Given the description of an element on the screen output the (x, y) to click on. 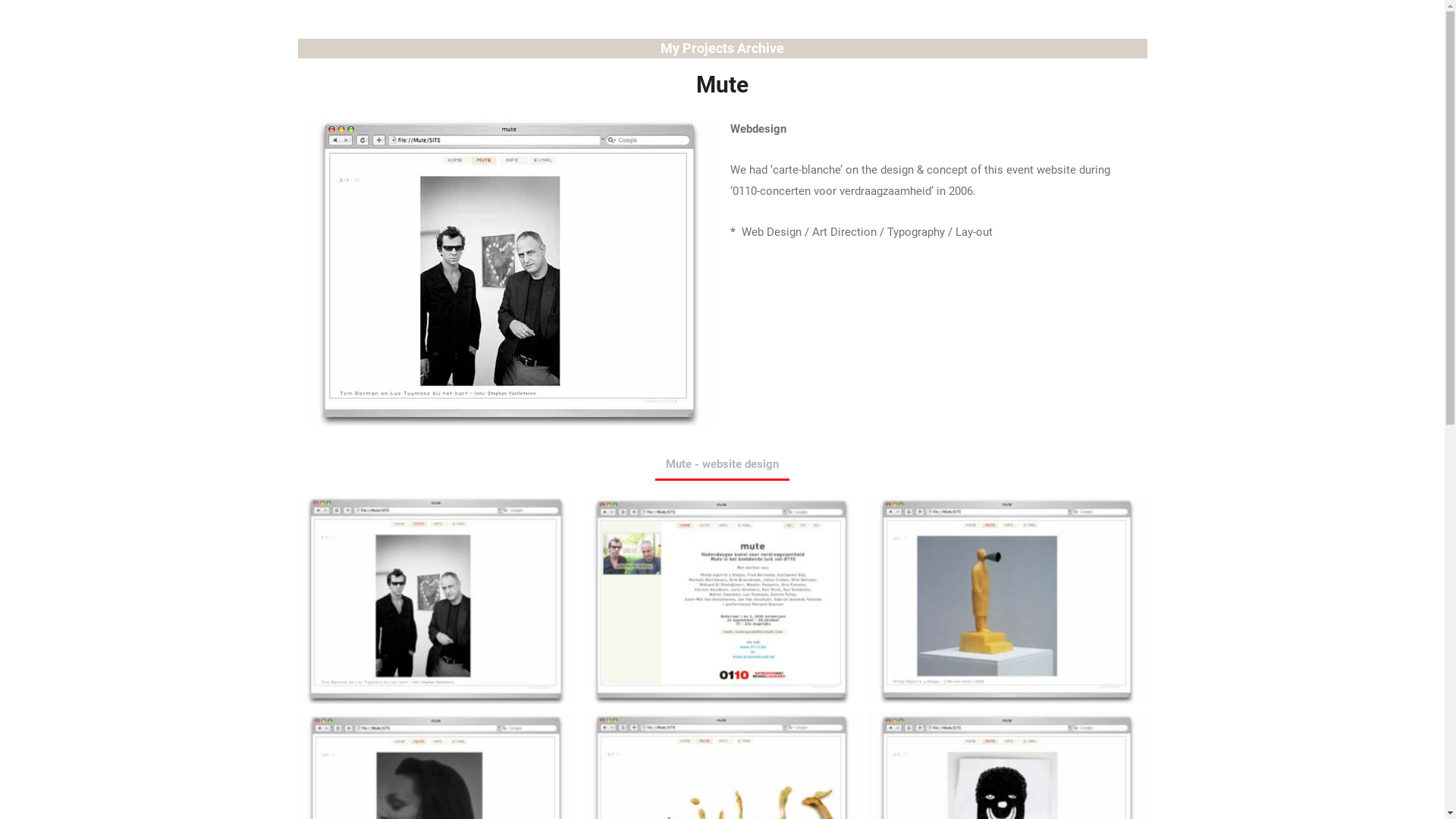
Mute - website design Element type: text (722, 464)
